Given the description of an element on the screen output the (x, y) to click on. 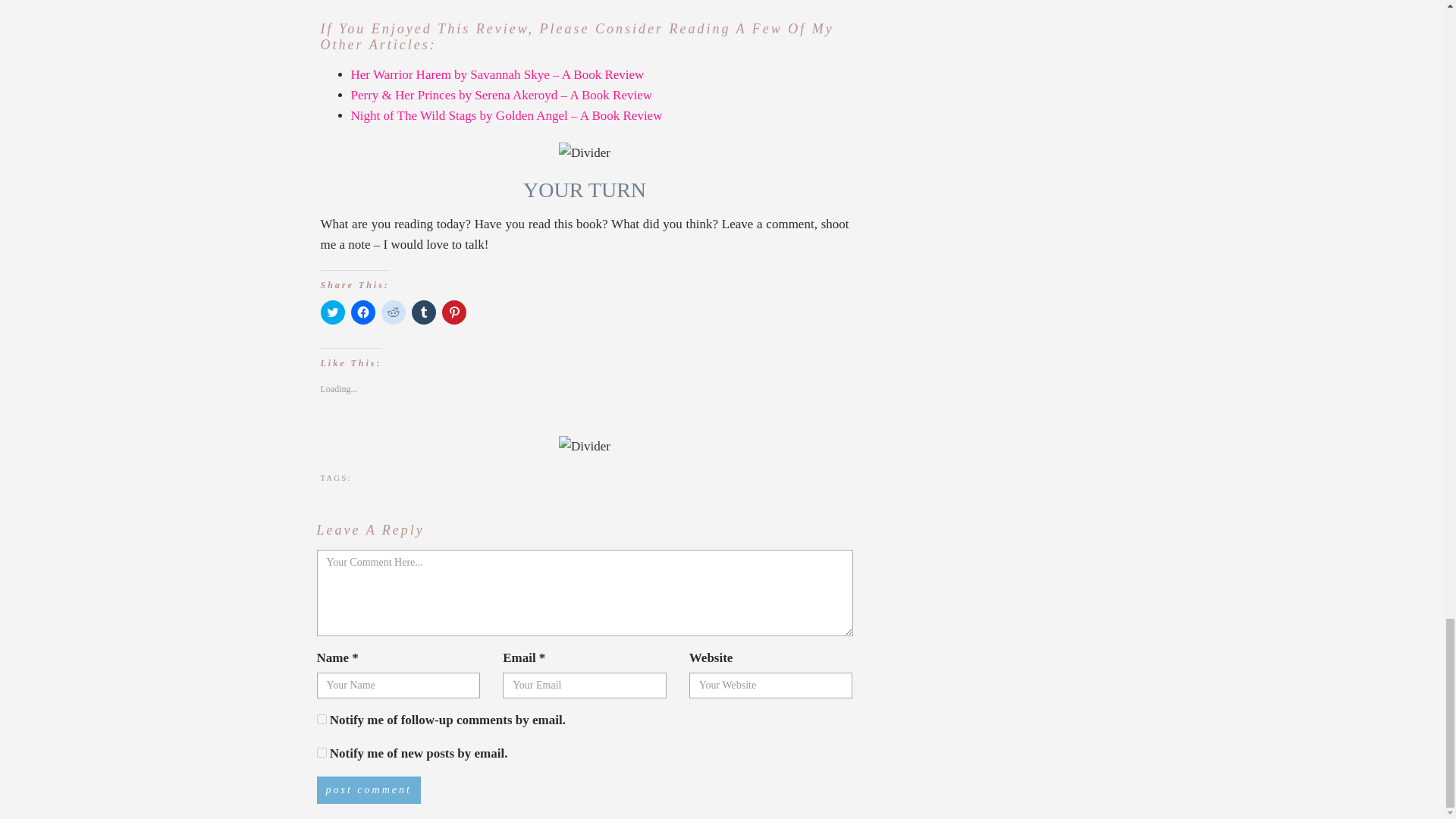
Click to share on Reddit (392, 312)
Click to share on Twitter (331, 312)
subscribe (321, 718)
subscribe (321, 752)
Click to share on Tumblr (422, 312)
Click to share on Pinterest (453, 312)
Click to share on Facebook (362, 312)
Post Comment (368, 789)
